Given the description of an element on the screen output the (x, y) to click on. 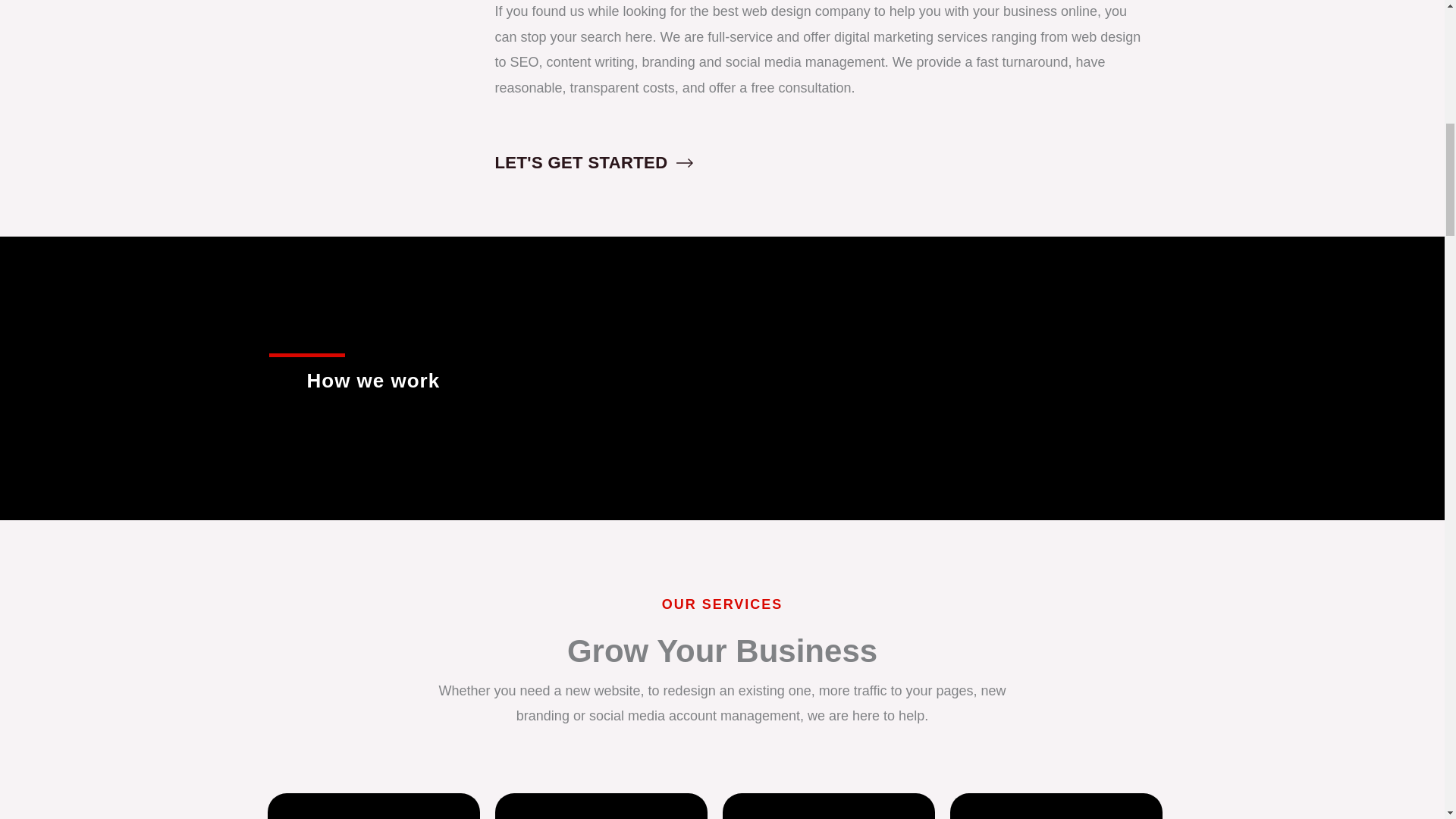
LET'S GET STARTED (594, 164)
